Given the description of an element on the screen output the (x, y) to click on. 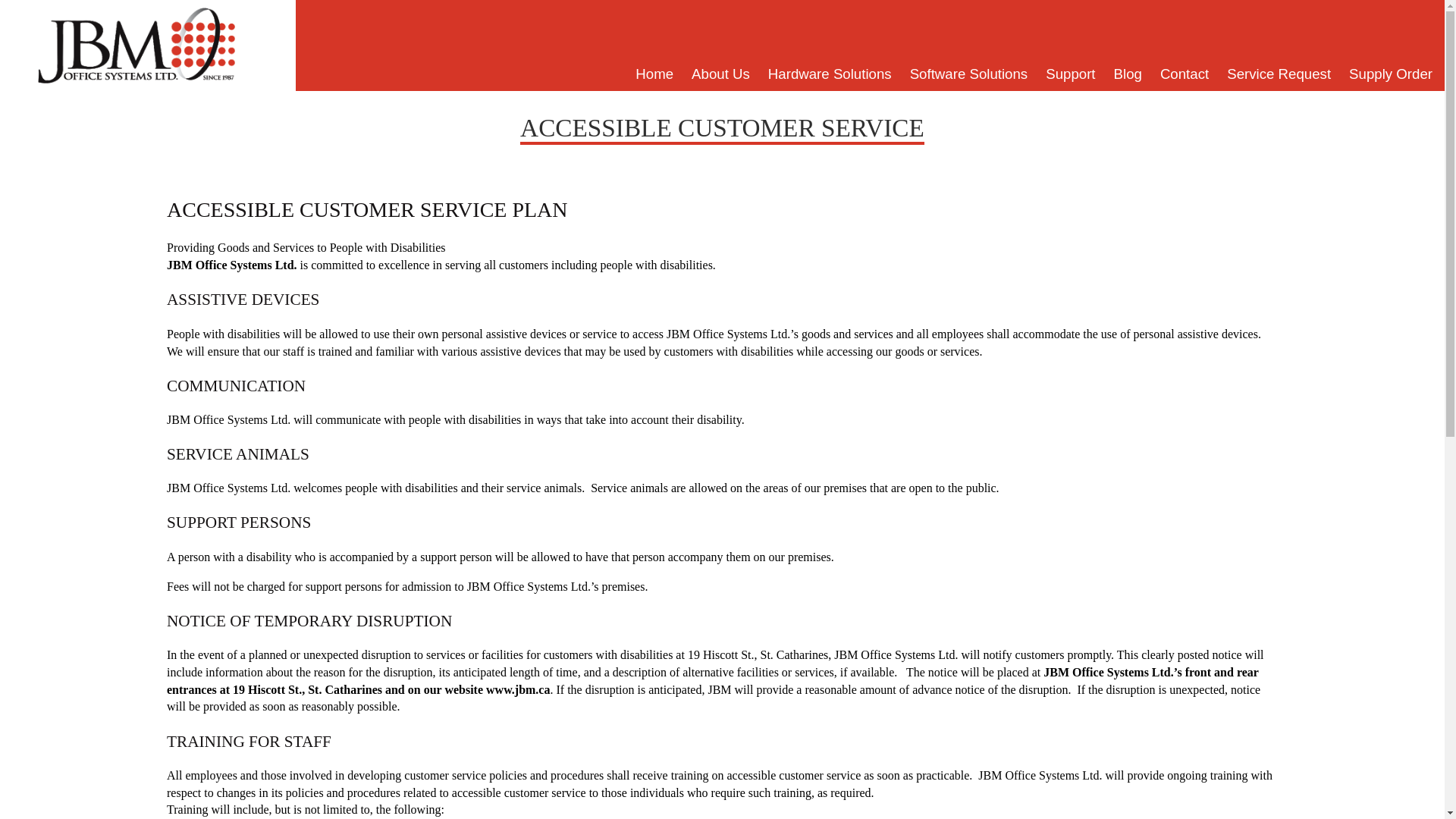
Support (1069, 73)
Hardware Solutions (829, 73)
About Us (720, 73)
Supply Order (1390, 73)
Home (654, 73)
Software Solutions (968, 73)
Contact (1184, 73)
Service Request (1278, 73)
Blog (1128, 73)
